Given the description of an element on the screen output the (x, y) to click on. 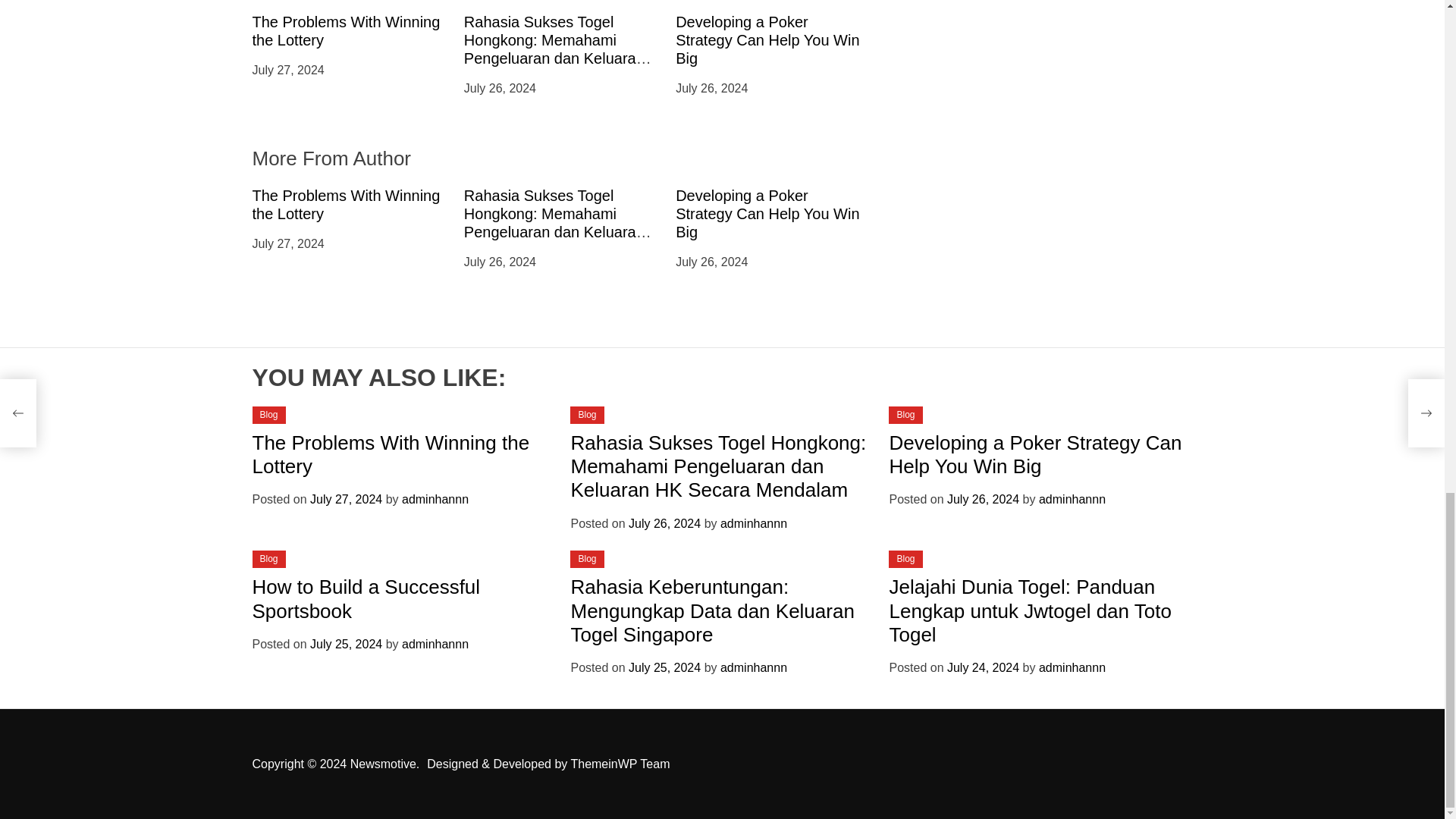
Blog (904, 415)
The Problems With Winning the Lottery (345, 30)
The Problems With Winning the Lottery (345, 204)
Blog (587, 415)
July 27, 2024 (345, 499)
Developing a Poker Strategy Can Help You Win Big (767, 213)
adminhannn (434, 499)
adminhannn (753, 522)
The Problems With Winning the Lottery (390, 454)
Blog (268, 415)
July 26, 2024 (664, 522)
Developing a Poker Strategy Can Help You Win Big (767, 39)
